Given the description of an element on the screen output the (x, y) to click on. 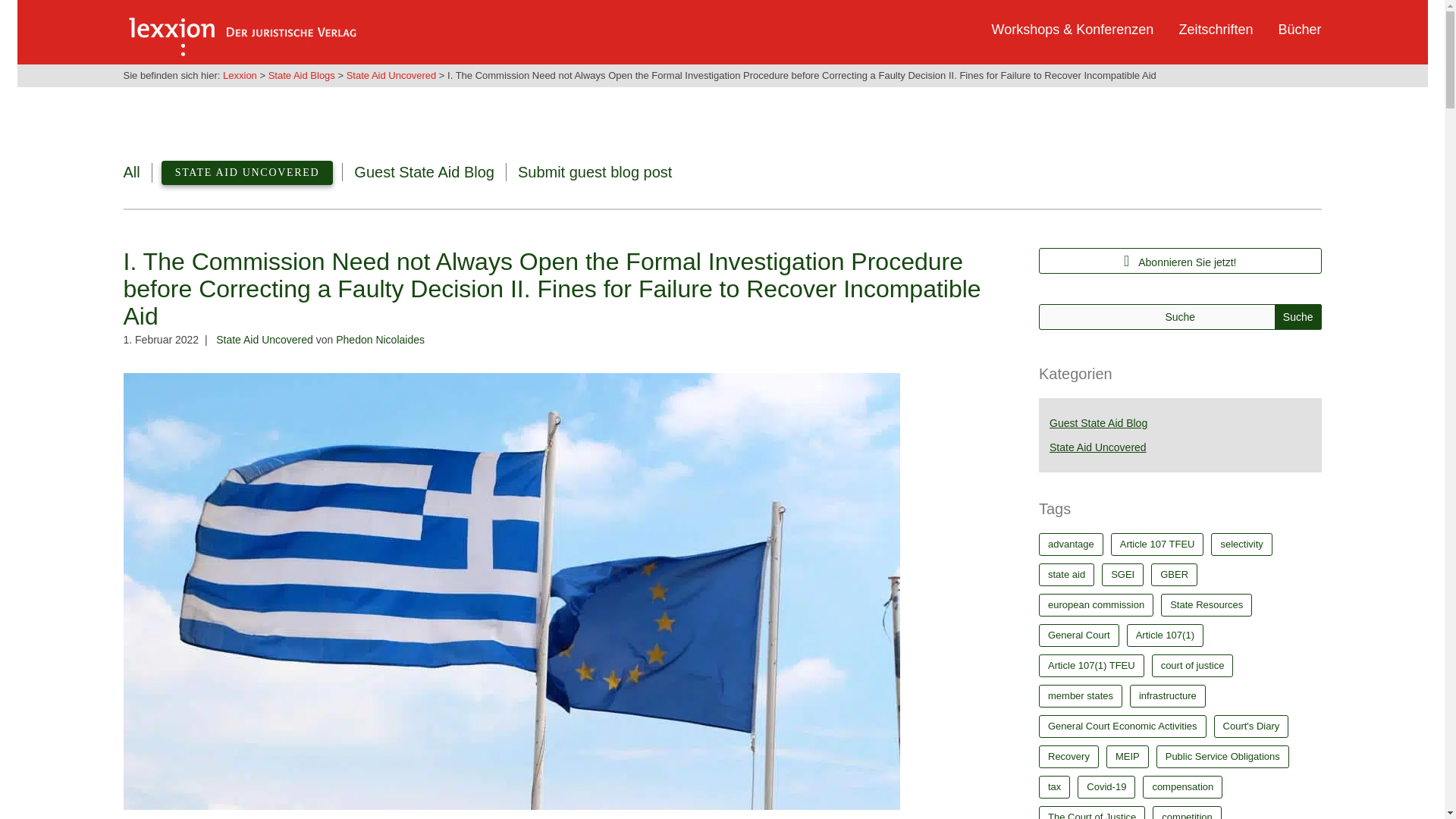
State Aid Uncovered (391, 75)
Go to the State Aid Uncovered Stateaid Kategorie archives. (391, 75)
Submit guest blog post (594, 171)
Lexxion (239, 75)
State Aid Blogs (300, 75)
State Aid Uncovered (264, 339)
Go to Lexxion. (239, 75)
Suche (1298, 316)
Suche (1298, 316)
Lexxion (240, 29)
Guest State Aid Blog (424, 171)
All (130, 171)
Go to State Aid Blogs. (300, 75)
STATE AID UNCOVERED (247, 172)
